Given the description of an element on the screen output the (x, y) to click on. 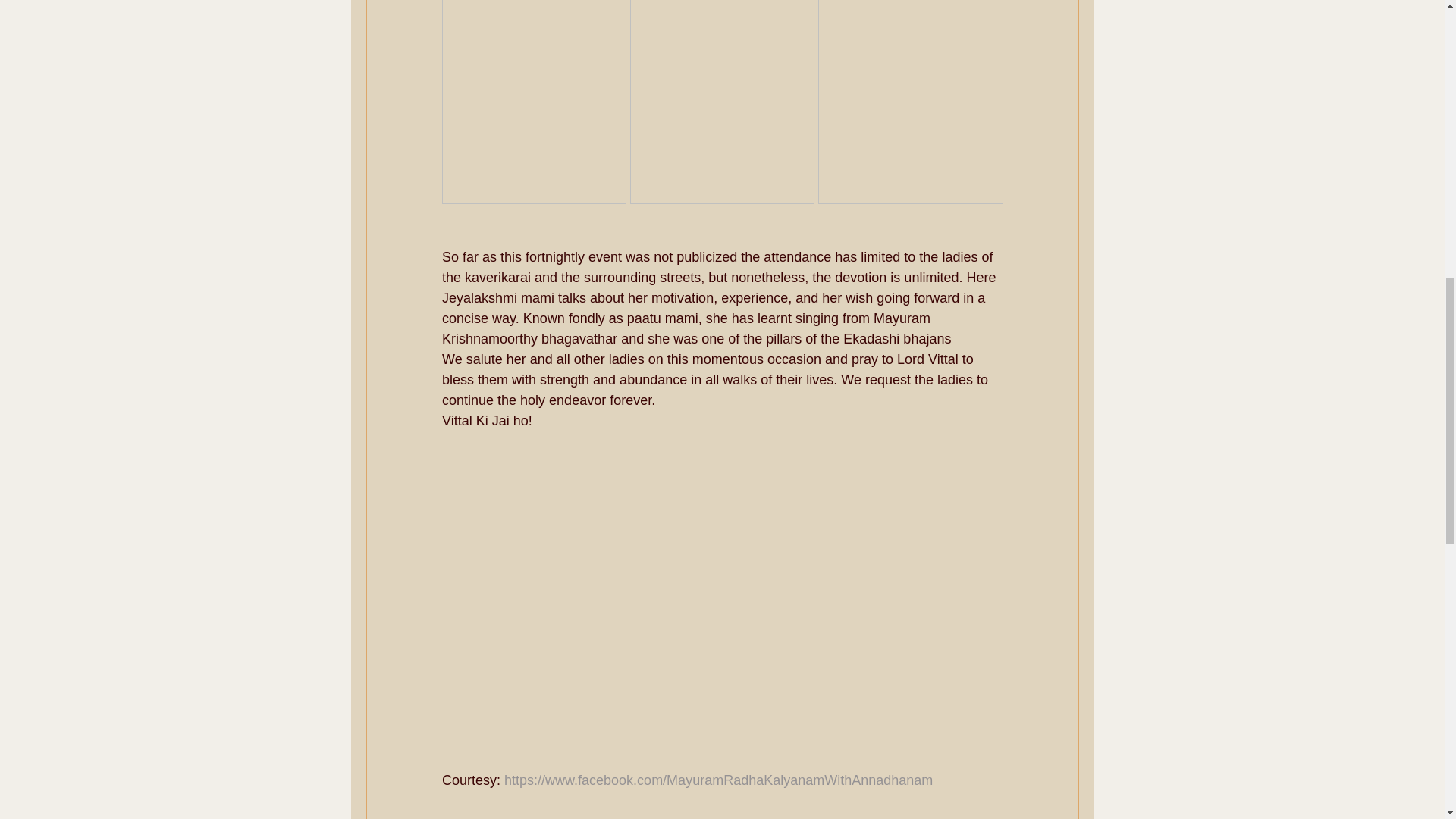
ricos-video (722, 490)
